Given the description of an element on the screen output the (x, y) to click on. 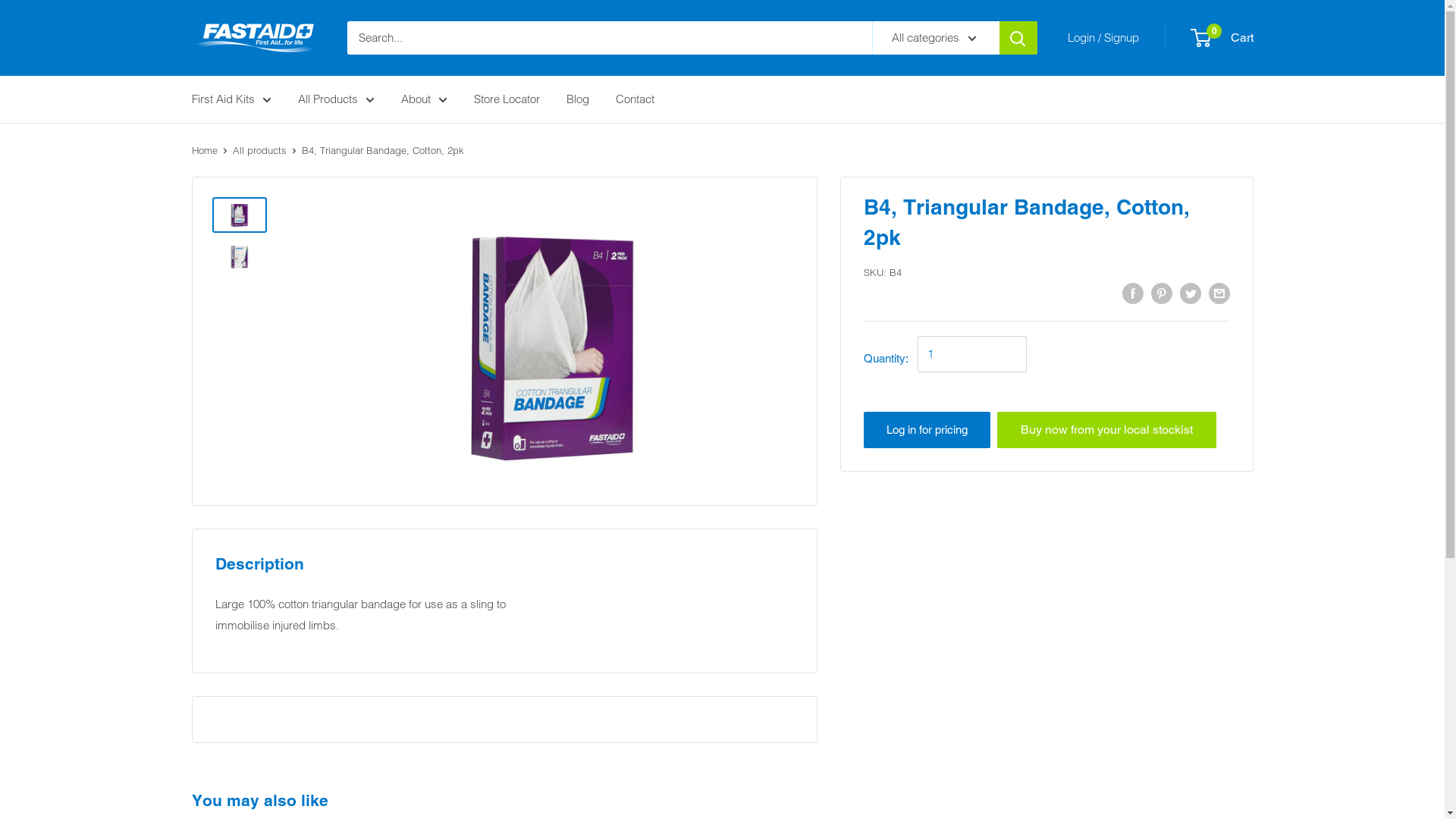
About Element type: text (423, 98)
First Aid Kits Element type: text (230, 98)
Home Element type: text (203, 150)
Log in for pricing Element type: text (925, 429)
0
Cart Element type: text (1222, 37)
Buy now from your local stockist Element type: text (1106, 429)
All products Element type: text (258, 150)
Login / Signup Element type: text (1103, 37)
All Products Element type: text (335, 98)
Store Locator Element type: text (506, 98)
Contact Element type: text (634, 98)
Blog Element type: text (576, 98)
